Given the description of an element on the screen output the (x, y) to click on. 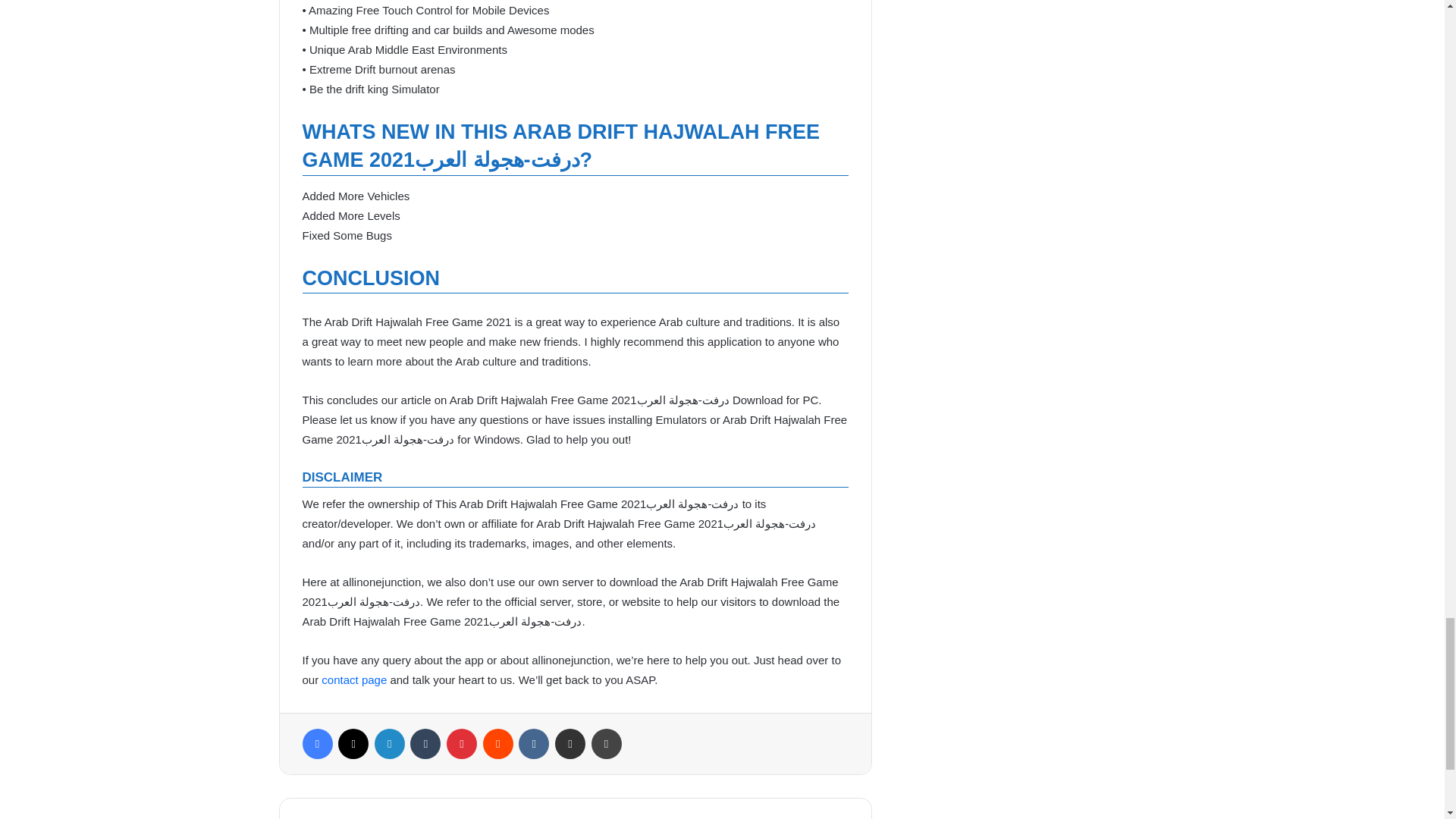
Reddit (498, 743)
Print (606, 743)
Facebook (316, 743)
X (352, 743)
LinkedIn (389, 743)
Share via Email (569, 743)
Pinterest (461, 743)
Tumblr (425, 743)
VKontakte (533, 743)
